Given the description of an element on the screen output the (x, y) to click on. 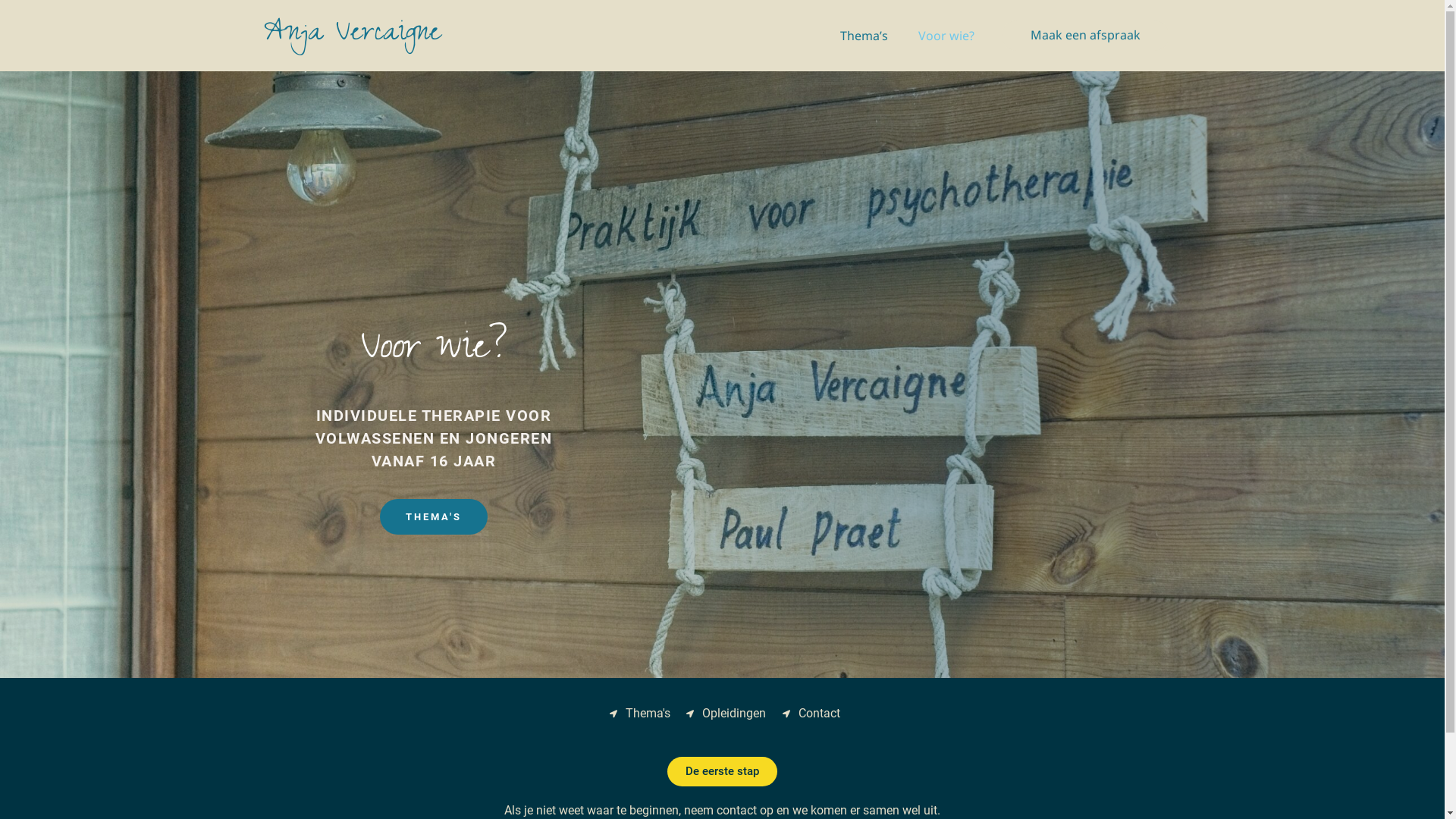
Maak een afspraak Element type: text (1084, 35)
Opleidingen Element type: text (725, 713)
De eerste stap Element type: text (722, 771)
Voor wie? Element type: text (945, 35)
THEMA'S Element type: text (433, 516)
Thema's Element type: text (639, 713)
Contact Element type: text (810, 713)
Anja Vercaigne Element type: text (352, 35)
